Given the description of an element on the screen output the (x, y) to click on. 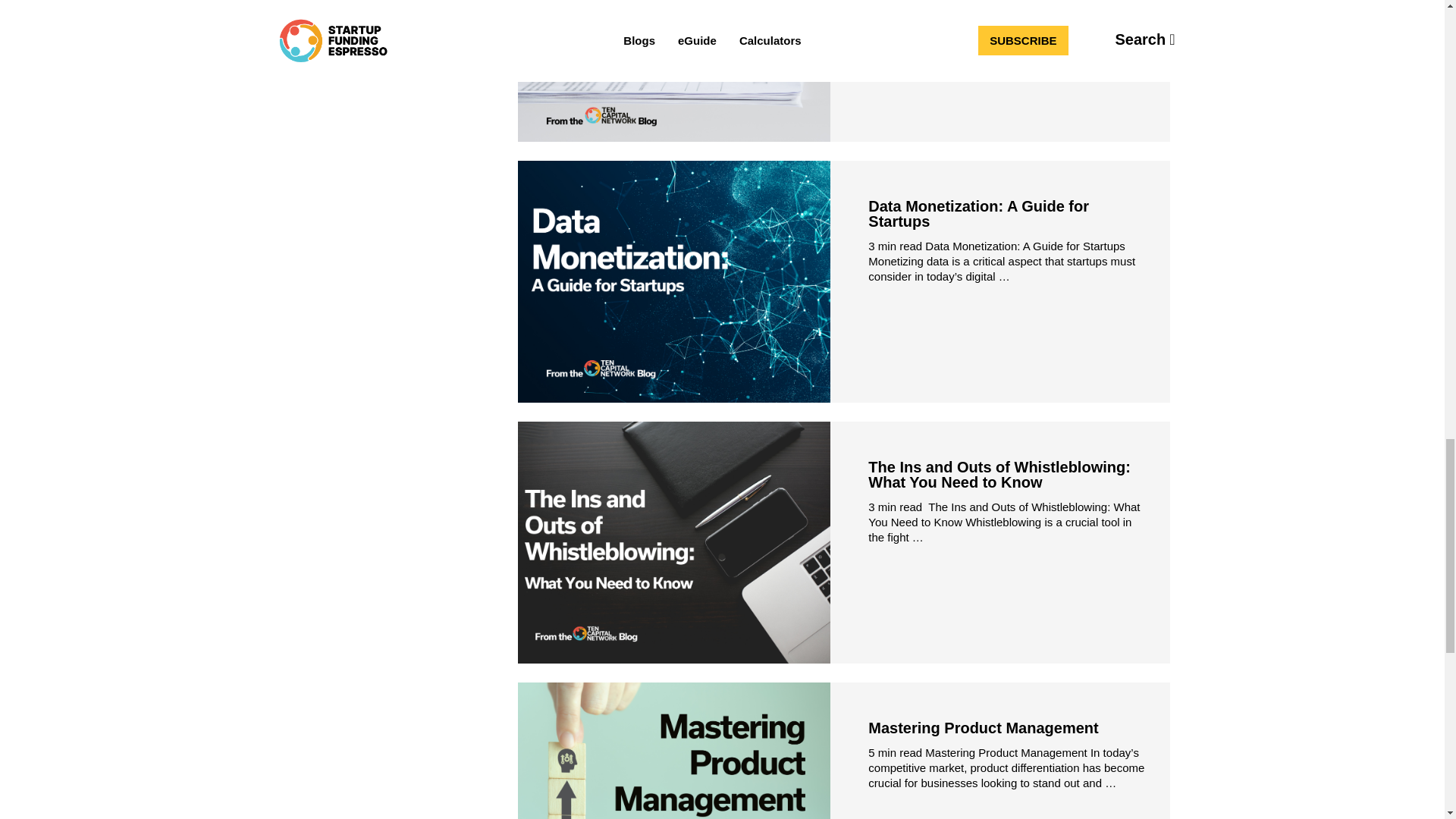
The Ins and Outs of Whistleblowing: What You Need to Know (999, 474)
Data Monetization: A Guide for Startups (978, 214)
Mastering Product Management (982, 727)
